Given the description of an element on the screen output the (x, y) to click on. 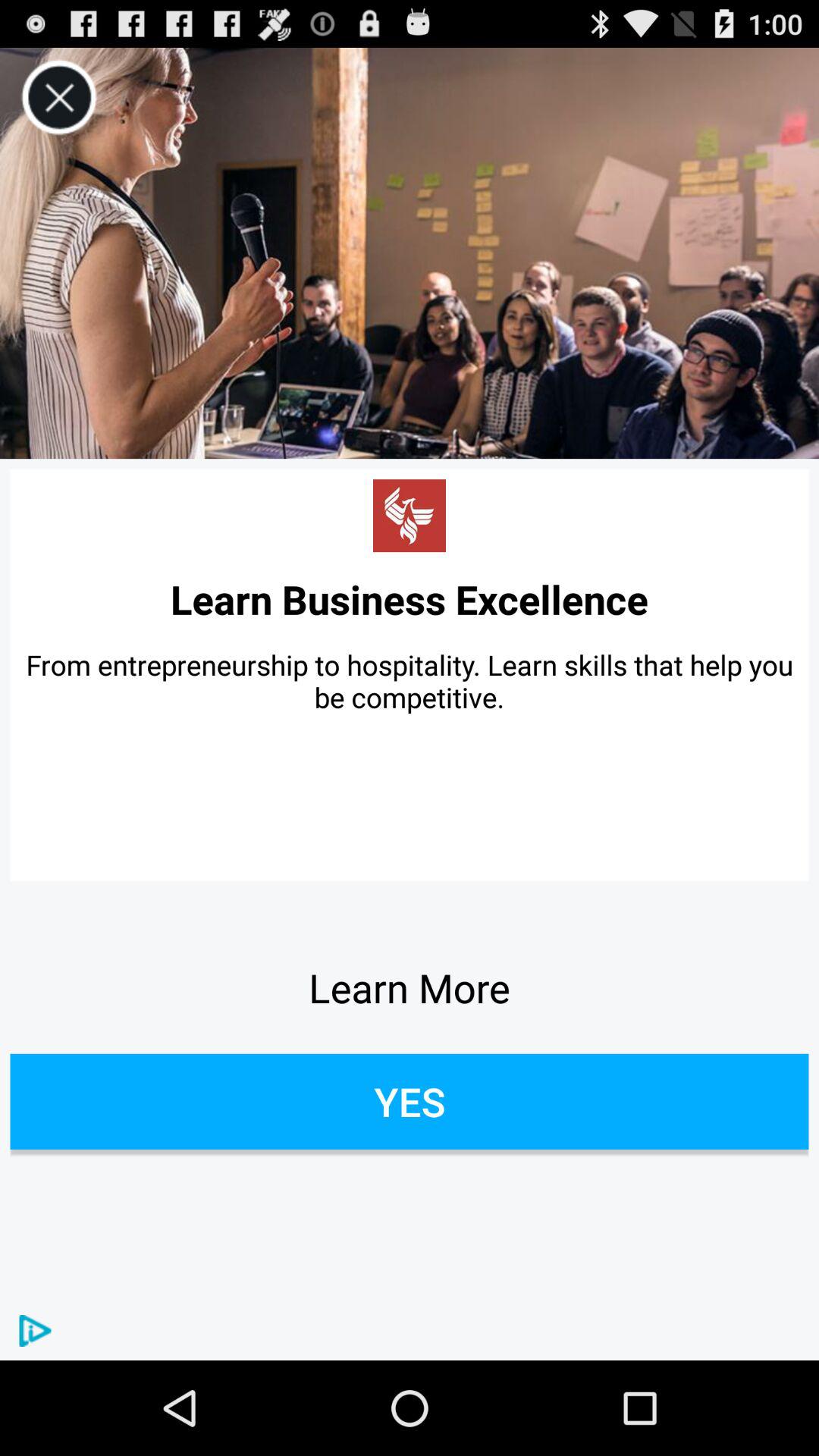
flip to the learn business excellence item (409, 598)
